Given the description of an element on the screen output the (x, y) to click on. 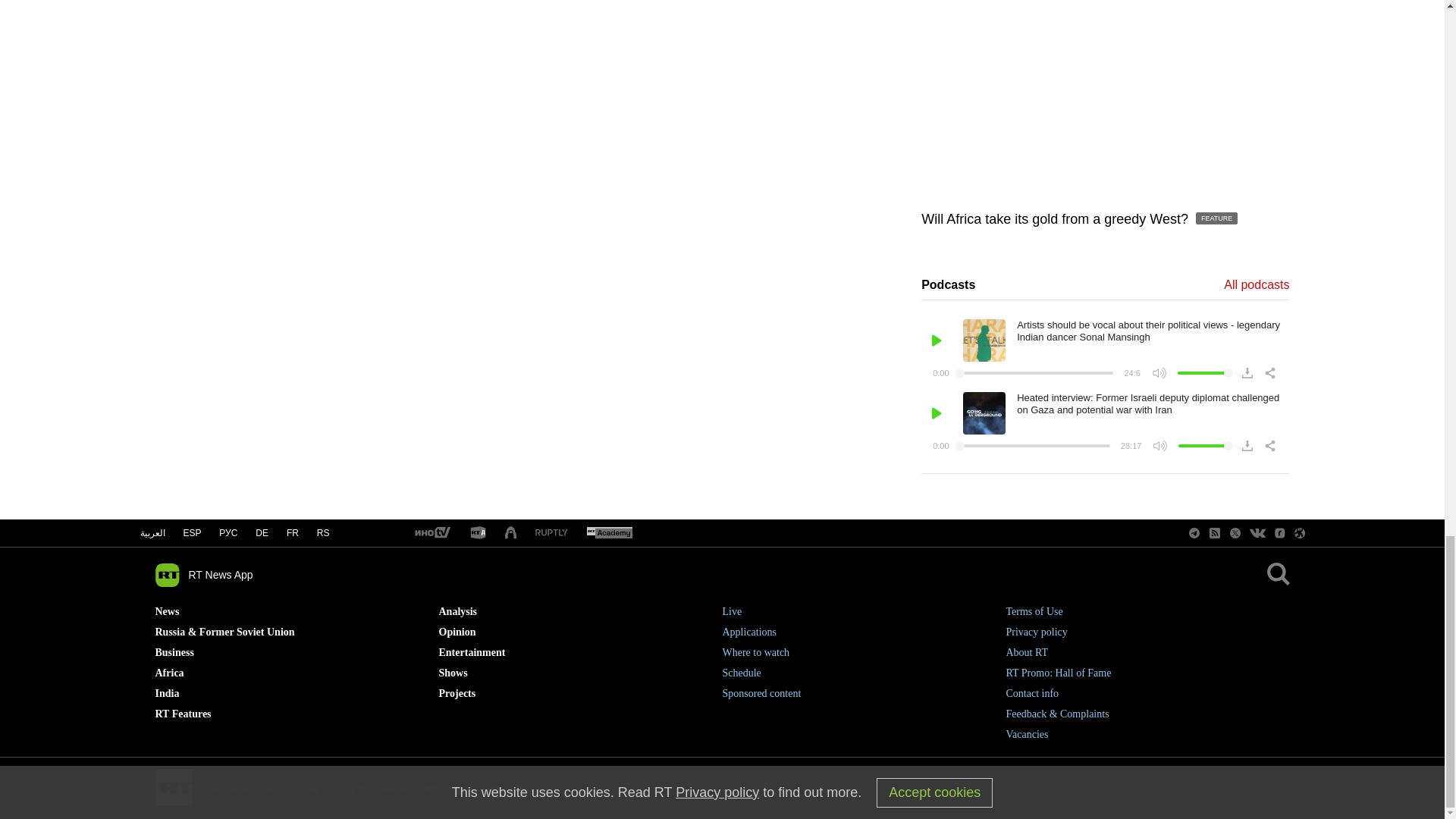
RT  (431, 533)
RT  (478, 533)
RT  (608, 533)
RT  (551, 533)
